Given the description of an element on the screen output the (x, y) to click on. 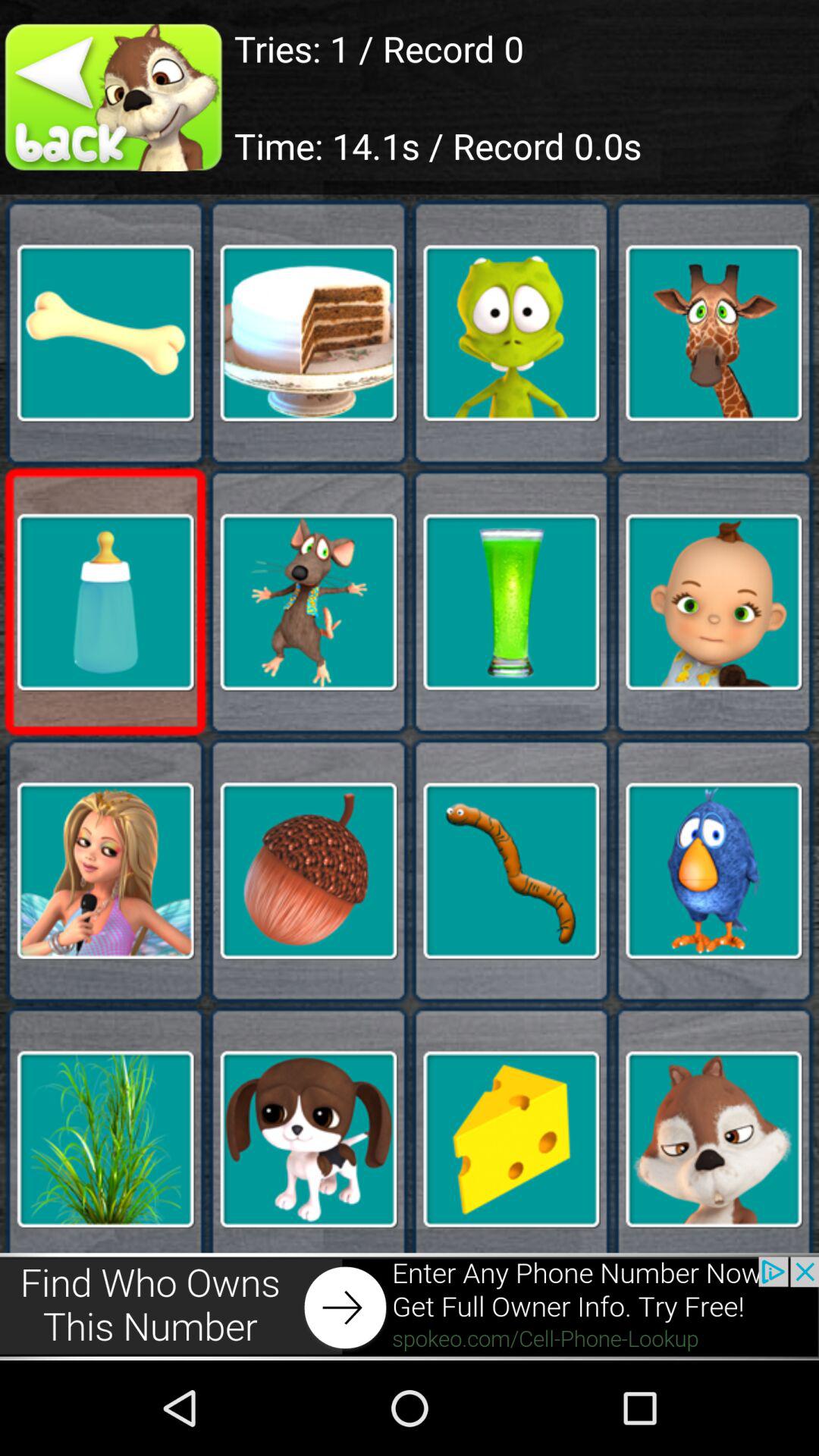
advertisement website (409, 1306)
